Given the description of an element on the screen output the (x, y) to click on. 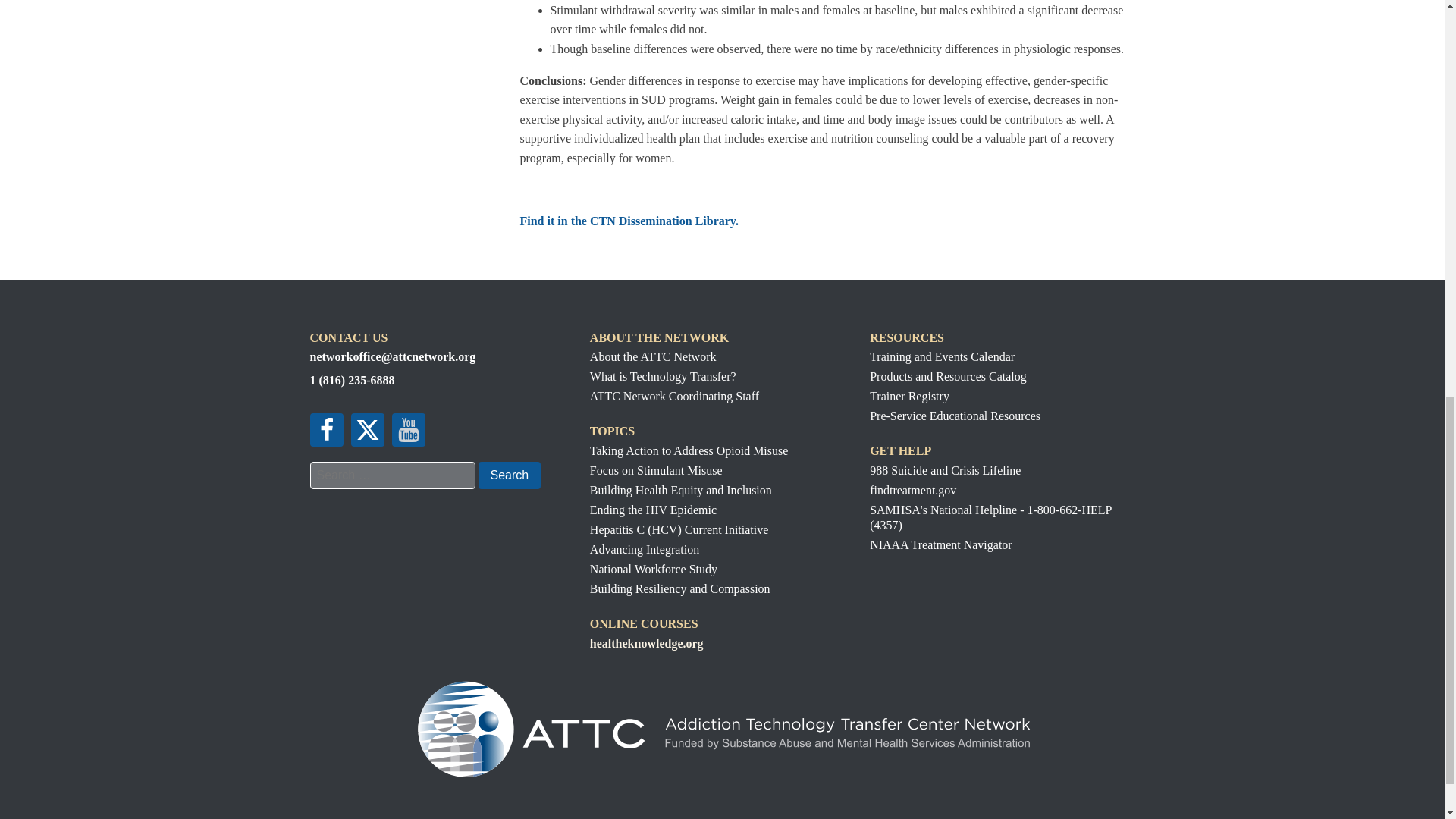
Search (508, 474)
Search (508, 474)
